Given the description of an element on the screen output the (x, y) to click on. 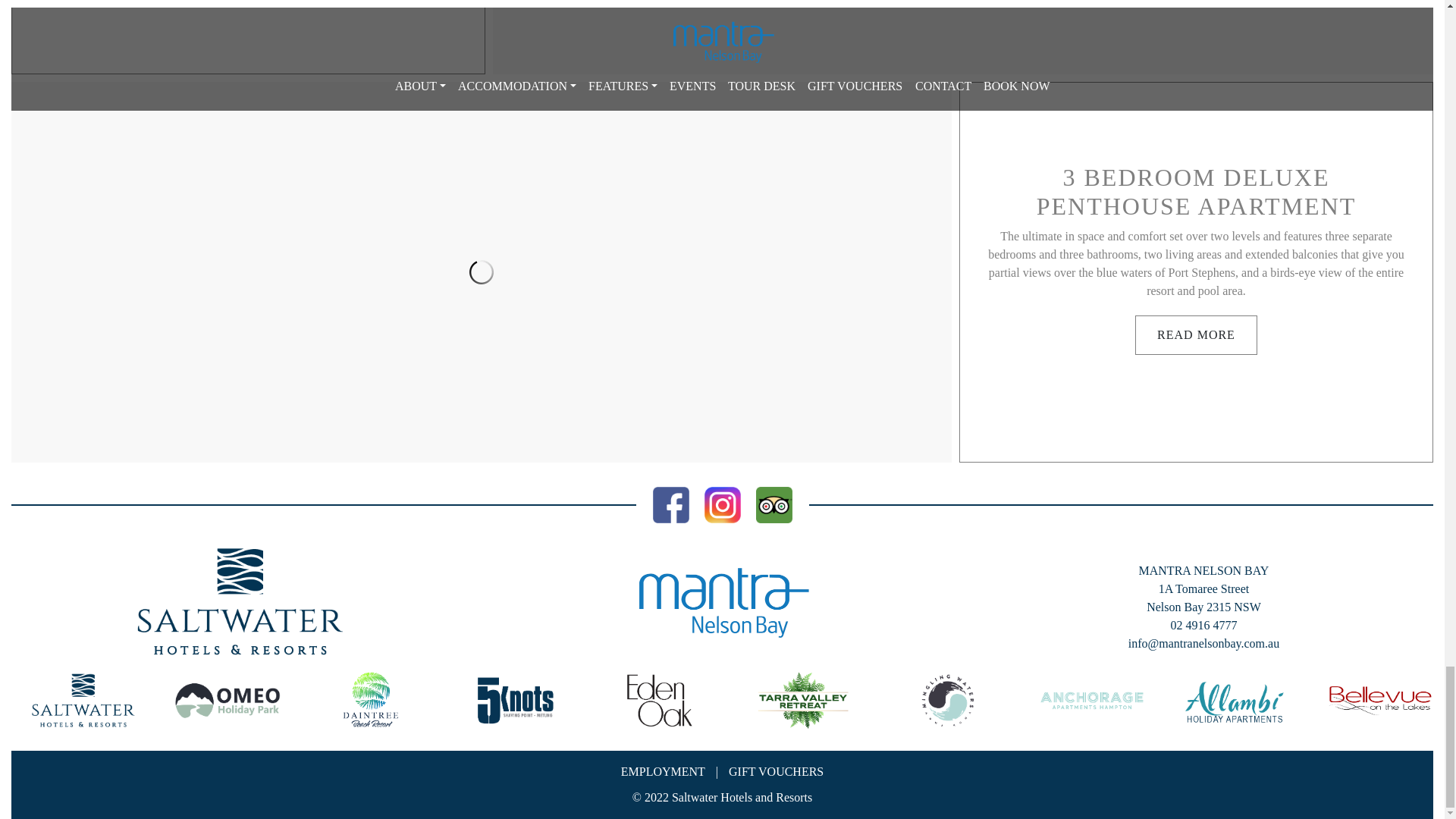
Trip Advisor (773, 503)
Facebook (670, 503)
Instagram (721, 503)
READ MORE (1196, 334)
